Given the description of an element on the screen output the (x, y) to click on. 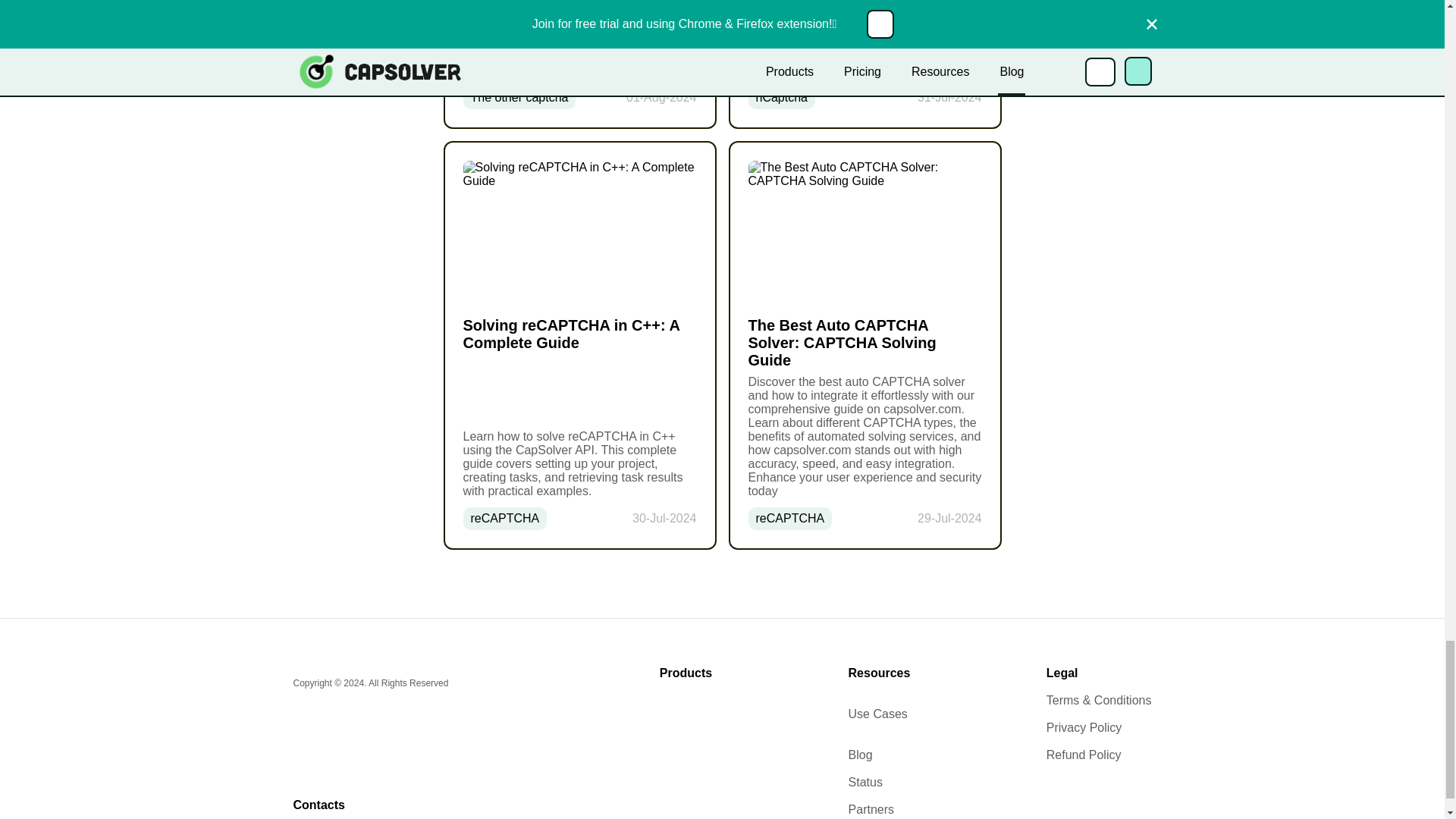
Refund Policy (1098, 755)
Status (879, 782)
Blog (879, 755)
Use Cases (879, 714)
Privacy Policy (1098, 728)
